Given the description of an element on the screen output the (x, y) to click on. 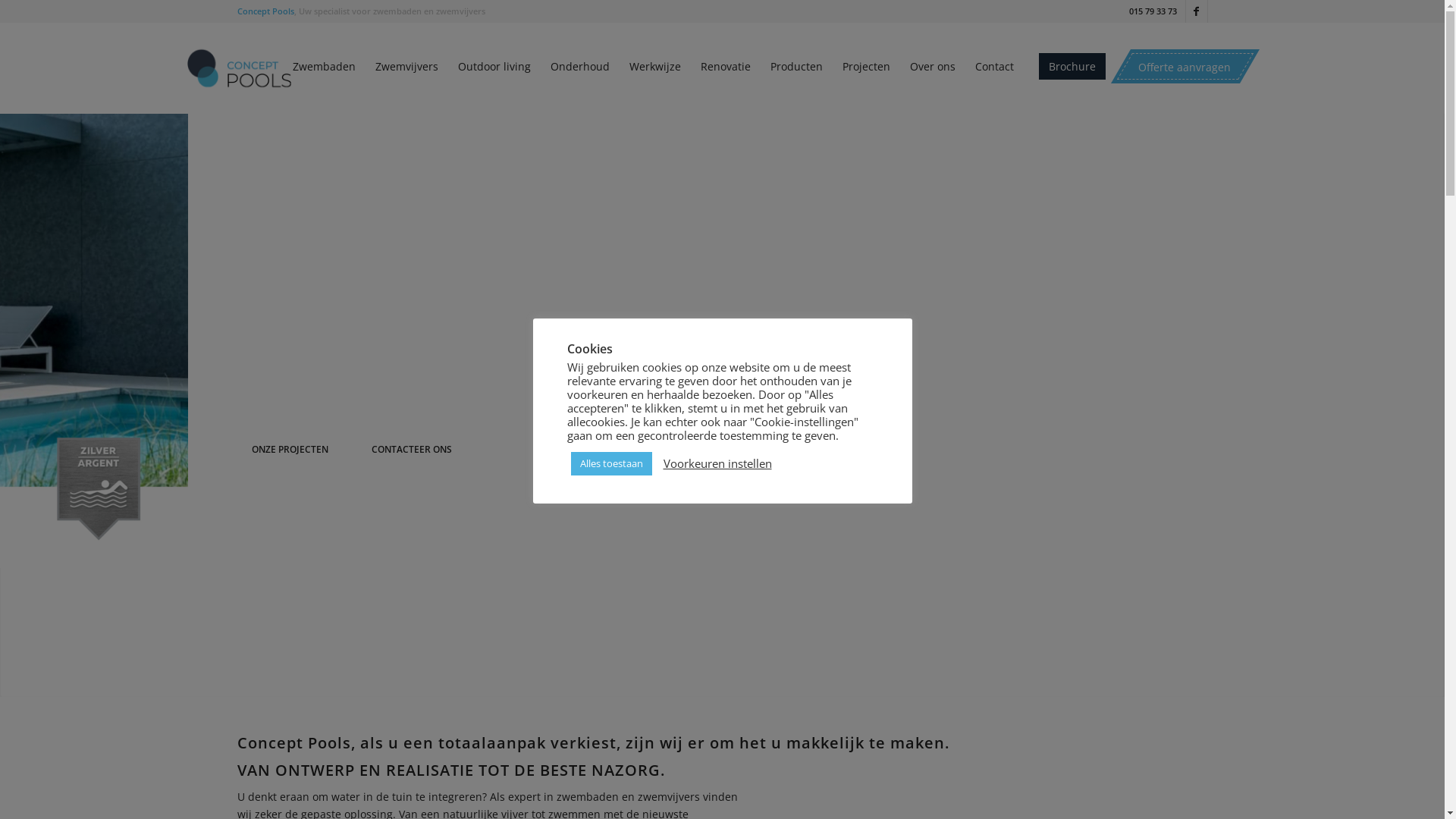
Onderhoud Element type: text (578, 66)
Offerte aanvragen Element type: text (1184, 66)
Facebook Element type: hover (1196, 11)
Alles toestaan Element type: text (610, 463)
Brochure Element type: text (1071, 66)
CONTACTEER ONS Element type: text (410, 385)
015 79 33 73 Element type: text (1152, 10)
Outdoor living Element type: text (493, 66)
Contact Element type: text (993, 66)
Producten Element type: text (795, 66)
Werkwijze Element type: text (654, 66)
Projecten Element type: text (866, 66)
Zwemvijvers Element type: text (406, 66)
Zwembaden Element type: text (323, 66)
Over ons Element type: text (931, 66)
Header_web Element type: hover (721, 328)
ONZE PROJECTEN Element type: text (289, 385)
Voorkeuren instellen Element type: text (716, 463)
Renovatie Element type: text (724, 66)
